Given the description of an element on the screen output the (x, y) to click on. 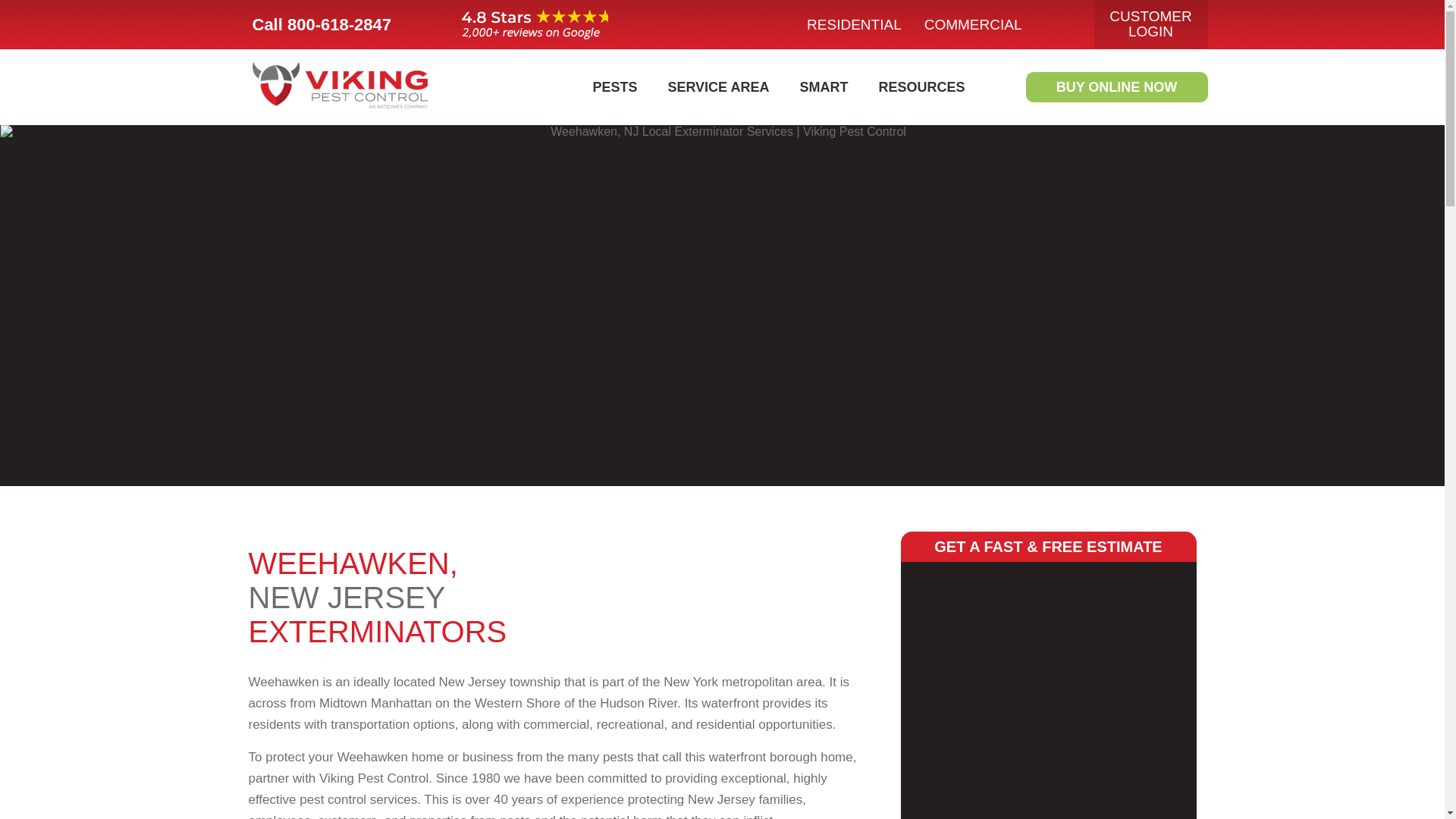
CUSTOMER LOGIN (1150, 24)
RESIDENTIAL (853, 24)
800-618-2847 (351, 24)
COMMERCIAL (972, 24)
